Given the description of an element on the screen output the (x, y) to click on. 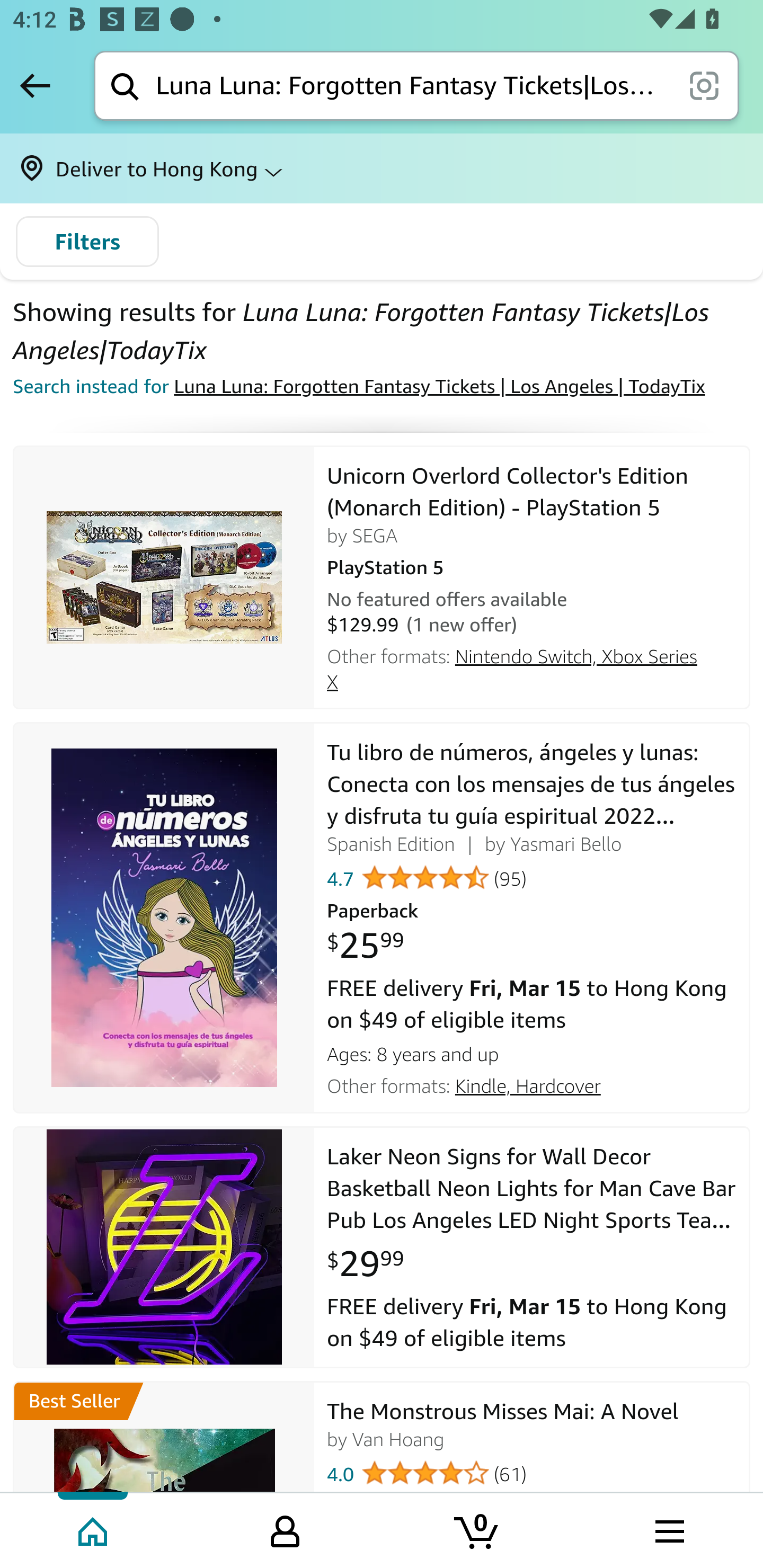
Back (35, 85)
scan it (704, 85)
Deliver to Hong Kong ⌵ (381, 168)
Filters (87, 241)
PlayStation 5 (532, 564)
Ages: 8 years and up (532, 1050)
Home Tab 1 of 4 (94, 1529)
Your Amazon.com Tab 2 of 4 (285, 1529)
Cart 0 item Tab 3 of 4 0 (477, 1529)
Browse menu Tab 4 of 4 (668, 1529)
